Given the description of an element on the screen output the (x, y) to click on. 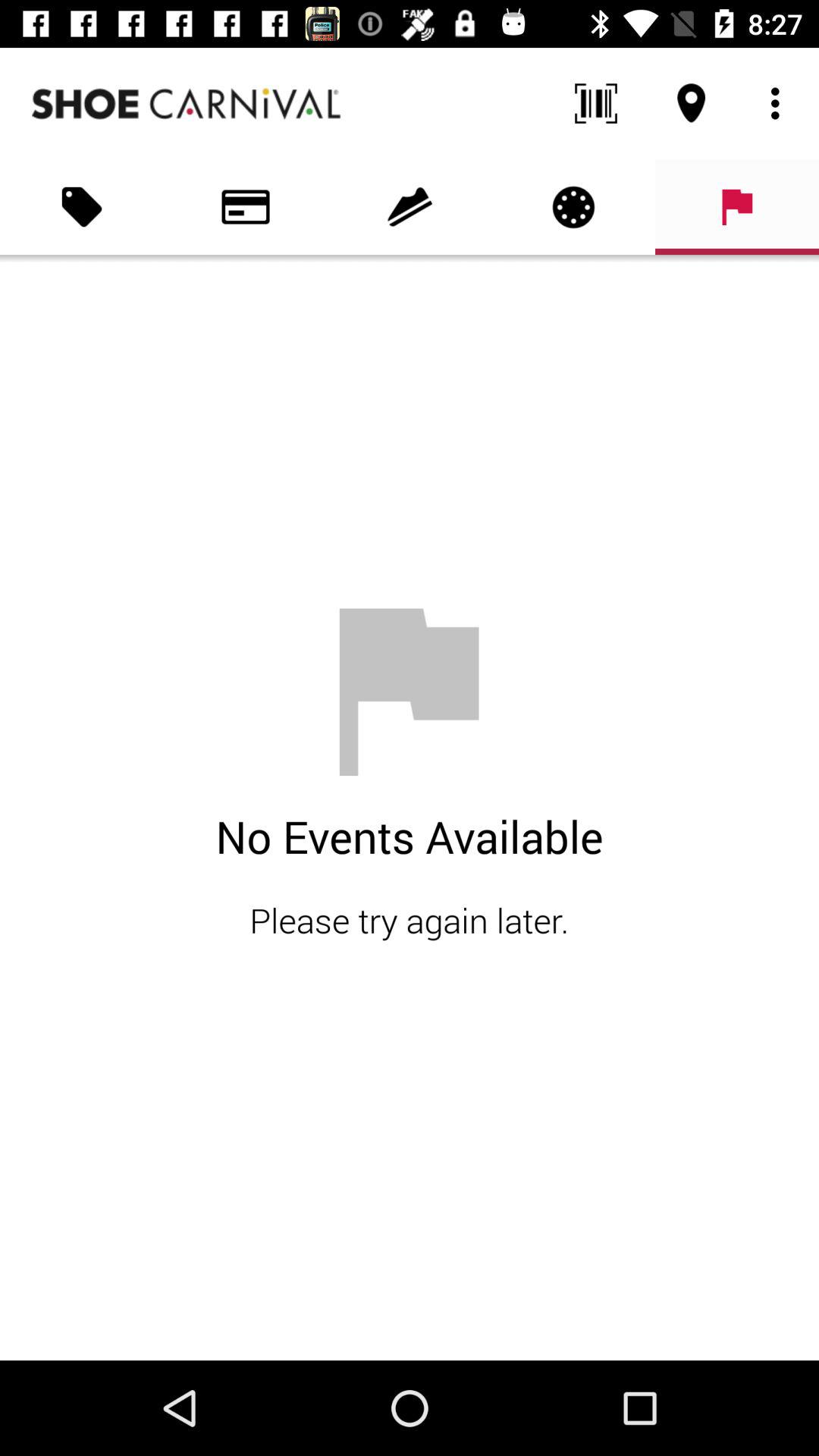
select tag icon below shoe carnival on the page (82, 207)
select the third image below shoe carnival text (409, 207)
click on the image which is above the text no events available (409, 692)
click on the location icon (691, 103)
go to second option in second row (245, 207)
select flag icon on page (737, 207)
